Given the description of an element on the screen output the (x, y) to click on. 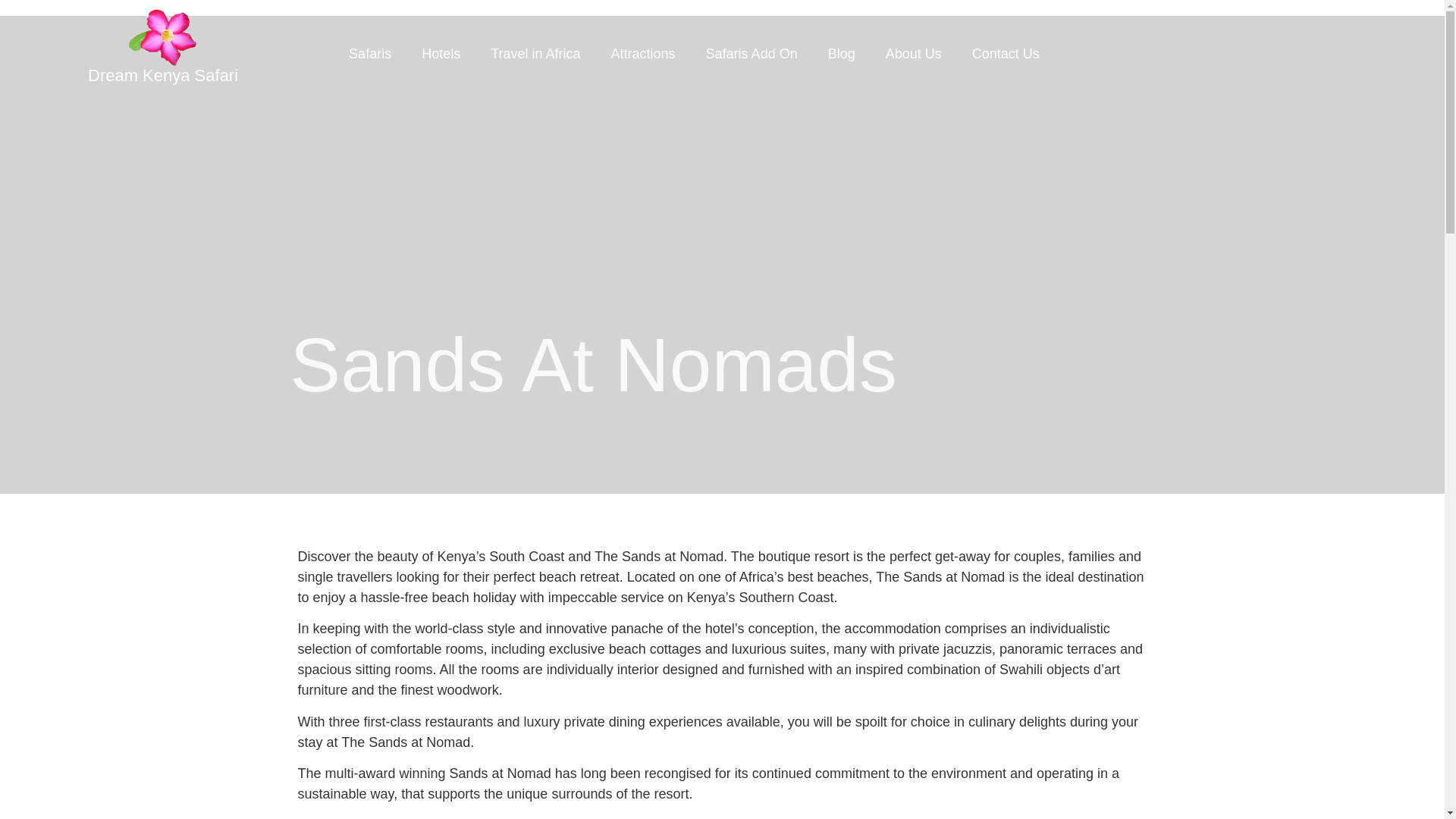
Safaris (369, 53)
Contact Us (1005, 53)
Blog (841, 53)
Dream Kenya Safari (162, 75)
Travel in Africa (535, 53)
About Us (913, 53)
Hotels (441, 53)
Safaris Add On (751, 53)
Attractions (642, 53)
